Given the description of an element on the screen output the (x, y) to click on. 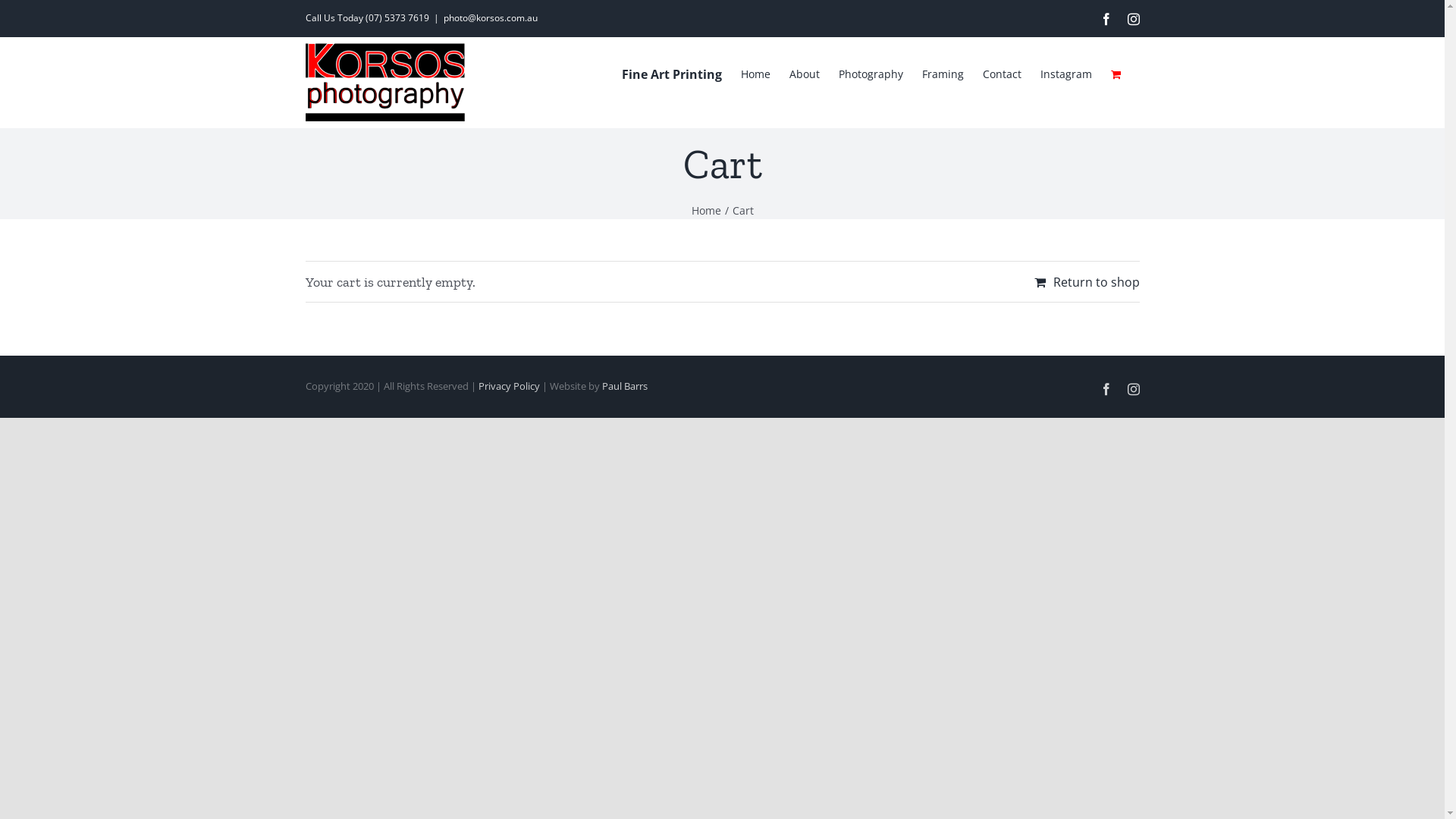
Home Element type: text (706, 210)
Photography Element type: text (870, 72)
Facebook Element type: text (1105, 18)
Paul Barrs Element type: text (624, 385)
Contact Element type: text (1001, 72)
Instagram Element type: text (1066, 72)
Home Element type: text (754, 72)
Instagram Element type: text (1132, 18)
Framing Element type: text (942, 72)
Instagram Element type: text (1132, 388)
About Element type: text (803, 72)
Fine Art Printing Element type: text (671, 72)
Facebook Element type: text (1105, 388)
Privacy Policy Element type: text (508, 385)
photo@korsos.com.au Element type: text (489, 17)
Return to shop Element type: text (1086, 281)
(07) 5373 7619 Element type: text (397, 17)
